Given the description of an element on the screen output the (x, y) to click on. 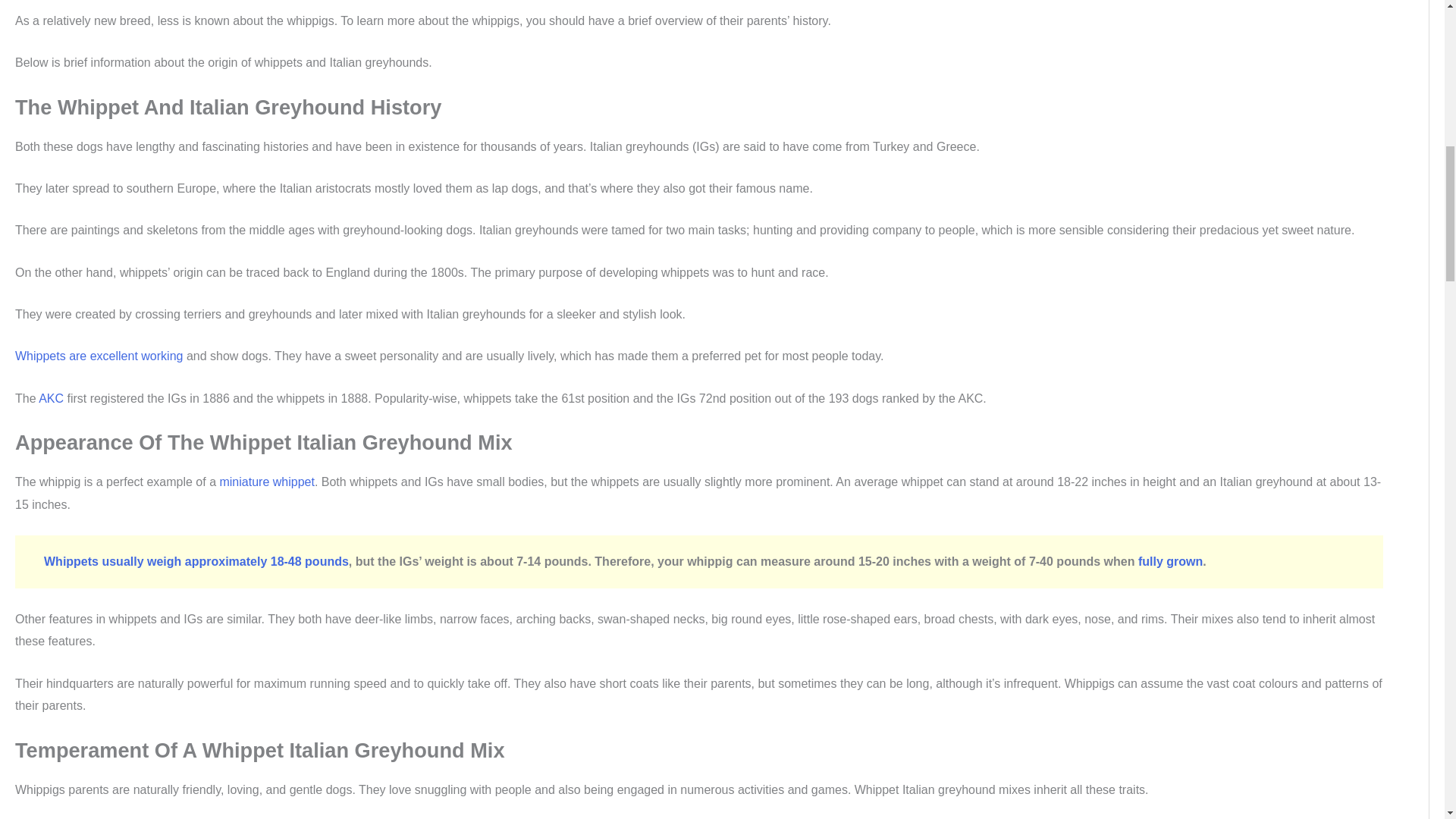
AKC (51, 398)
miniature whippet (266, 481)
Whippets usually weigh approximately 18-48 pounds (196, 561)
Whippets are excellent working (98, 355)
fully grown (1170, 561)
